Given the description of an element on the screen output the (x, y) to click on. 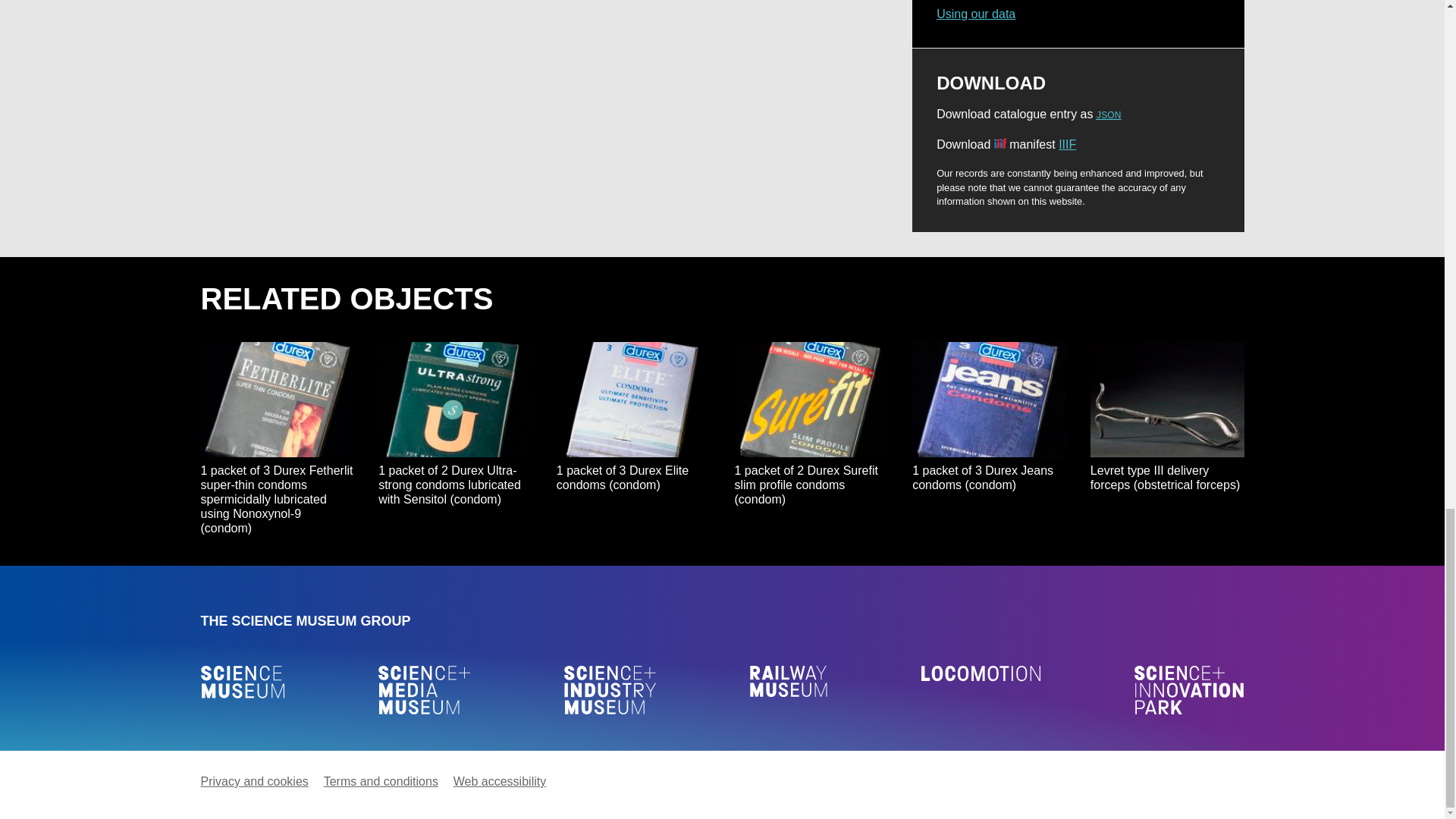
Javascript Object Notation (1108, 114)
